Given the description of an element on the screen output the (x, y) to click on. 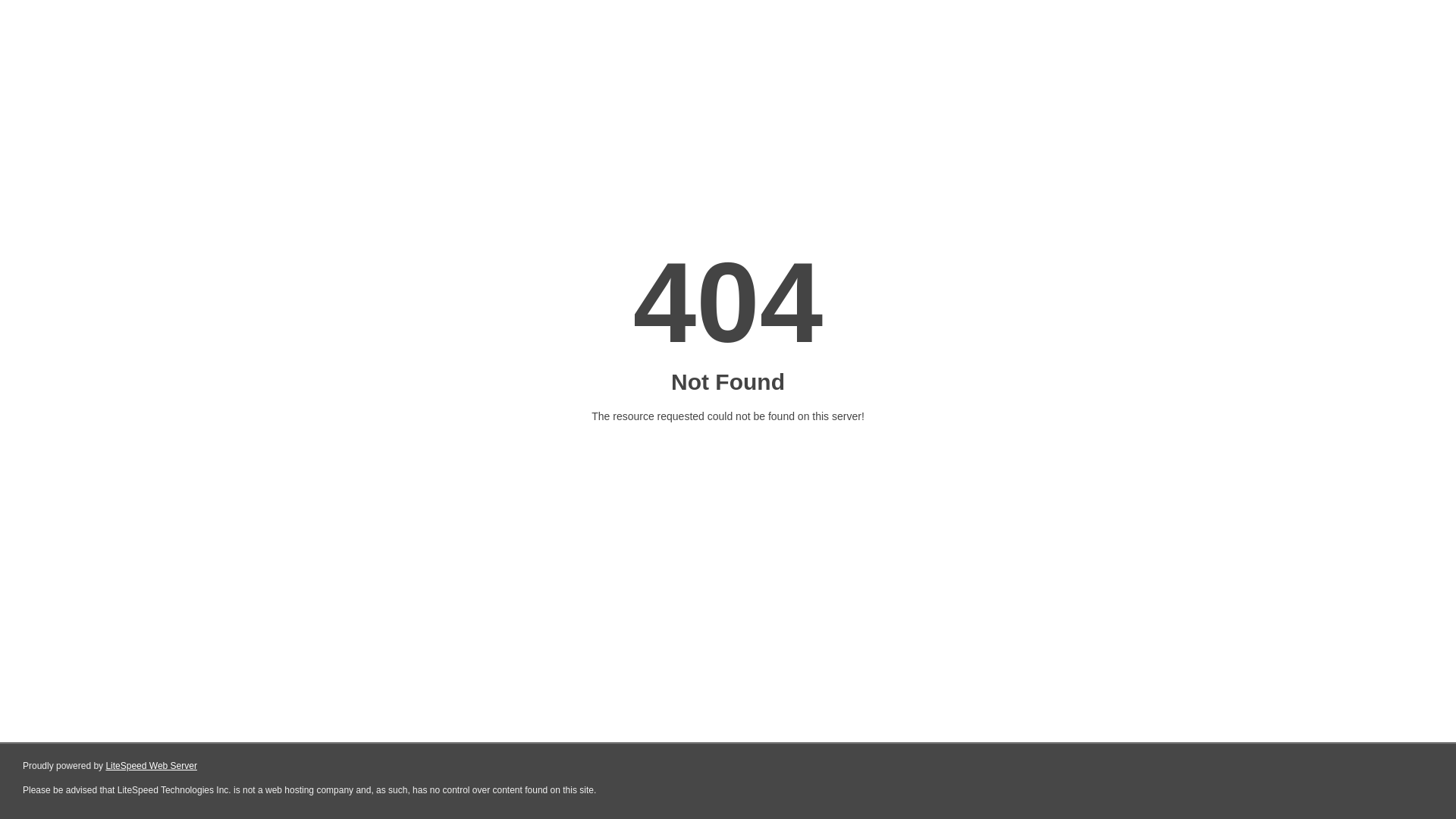
LiteSpeed Web Server Element type: text (151, 765)
